Given the description of an element on the screen output the (x, y) to click on. 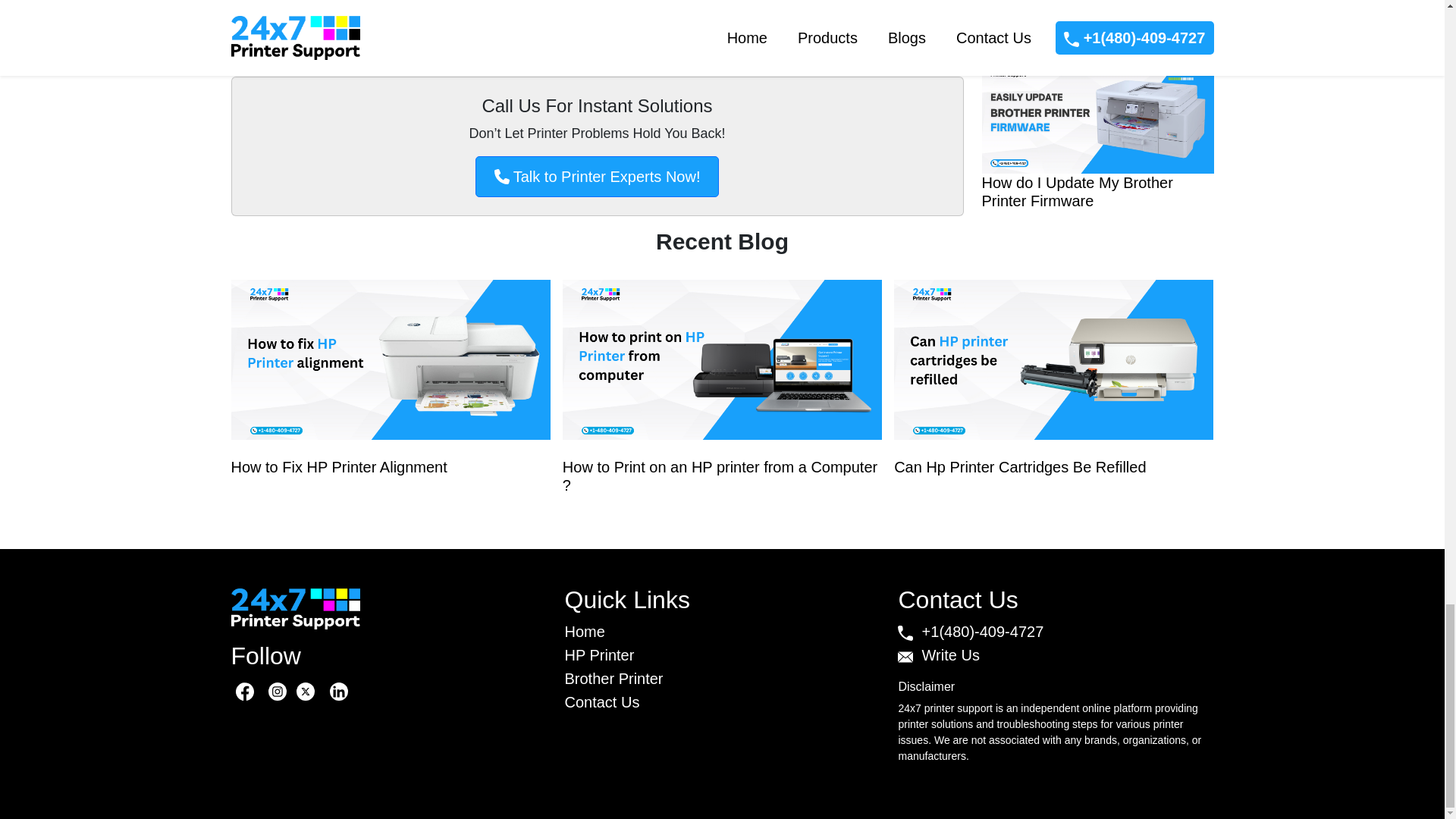
How to Fix HP Printer Alignment (390, 390)
Talk to Printer Experts Now! (597, 176)
Home (584, 631)
Brother Printer (613, 678)
Can Hp Printer Cartridges Be Refilled (1052, 390)
How to Print on an HP printer from a Computer ? (722, 390)
  Write Us (938, 655)
24x7 Printer Support Logo (294, 607)
HP Printer (598, 655)
Contact Us (601, 701)
